Given the description of an element on the screen output the (x, y) to click on. 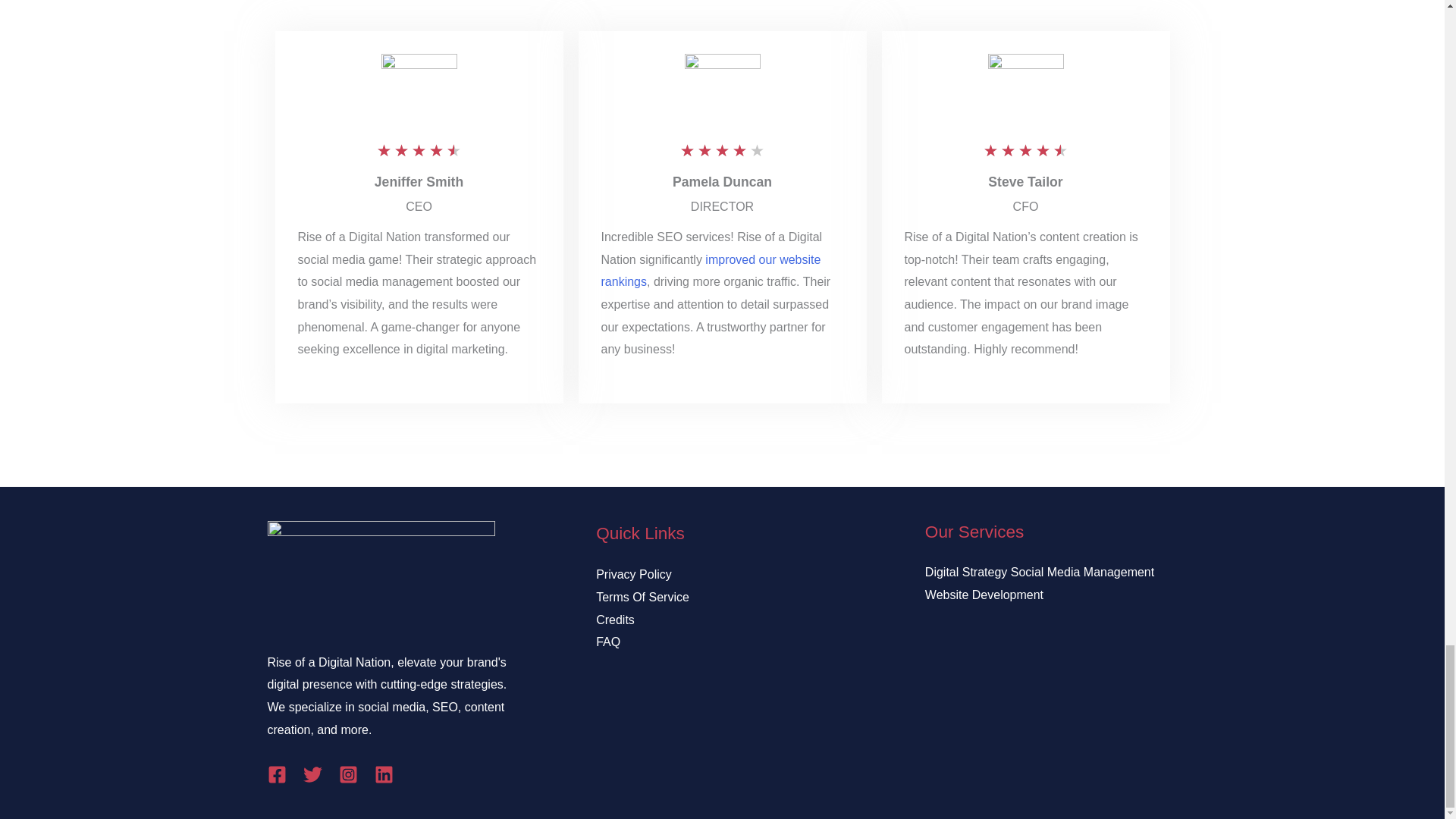
Digital Strategy Social Media Management Website Development (1039, 583)
improved our website rankings (710, 271)
Terms Of Service (641, 596)
Privacy Policy (633, 574)
Credits (614, 619)
FAQ (607, 641)
